Given the description of an element on the screen output the (x, y) to click on. 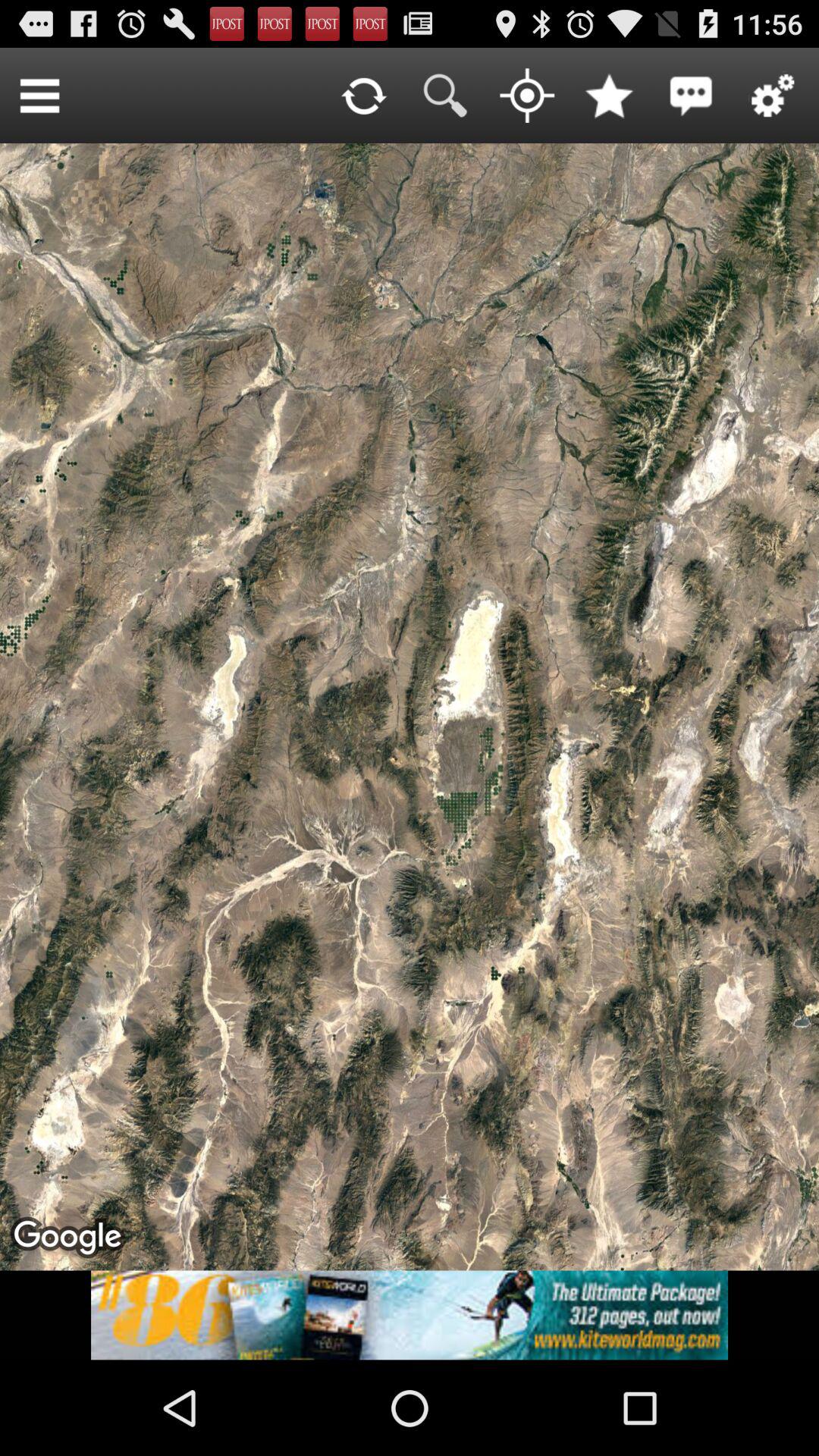
turn off icon at the top left corner (39, 95)
